Given the description of an element on the screen output the (x, y) to click on. 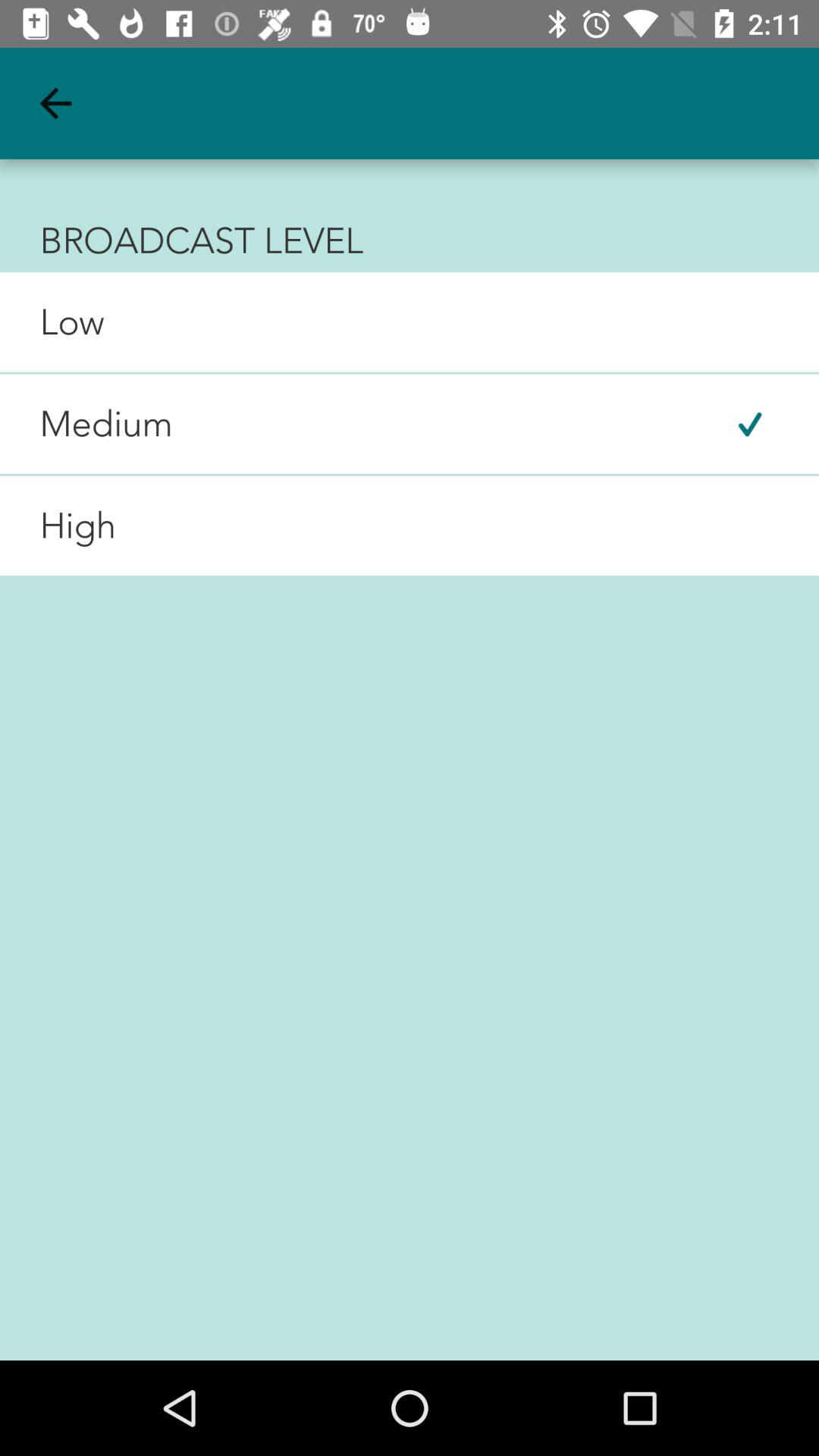
select the item to the right of medium (749, 423)
